Given the description of an element on the screen output the (x, y) to click on. 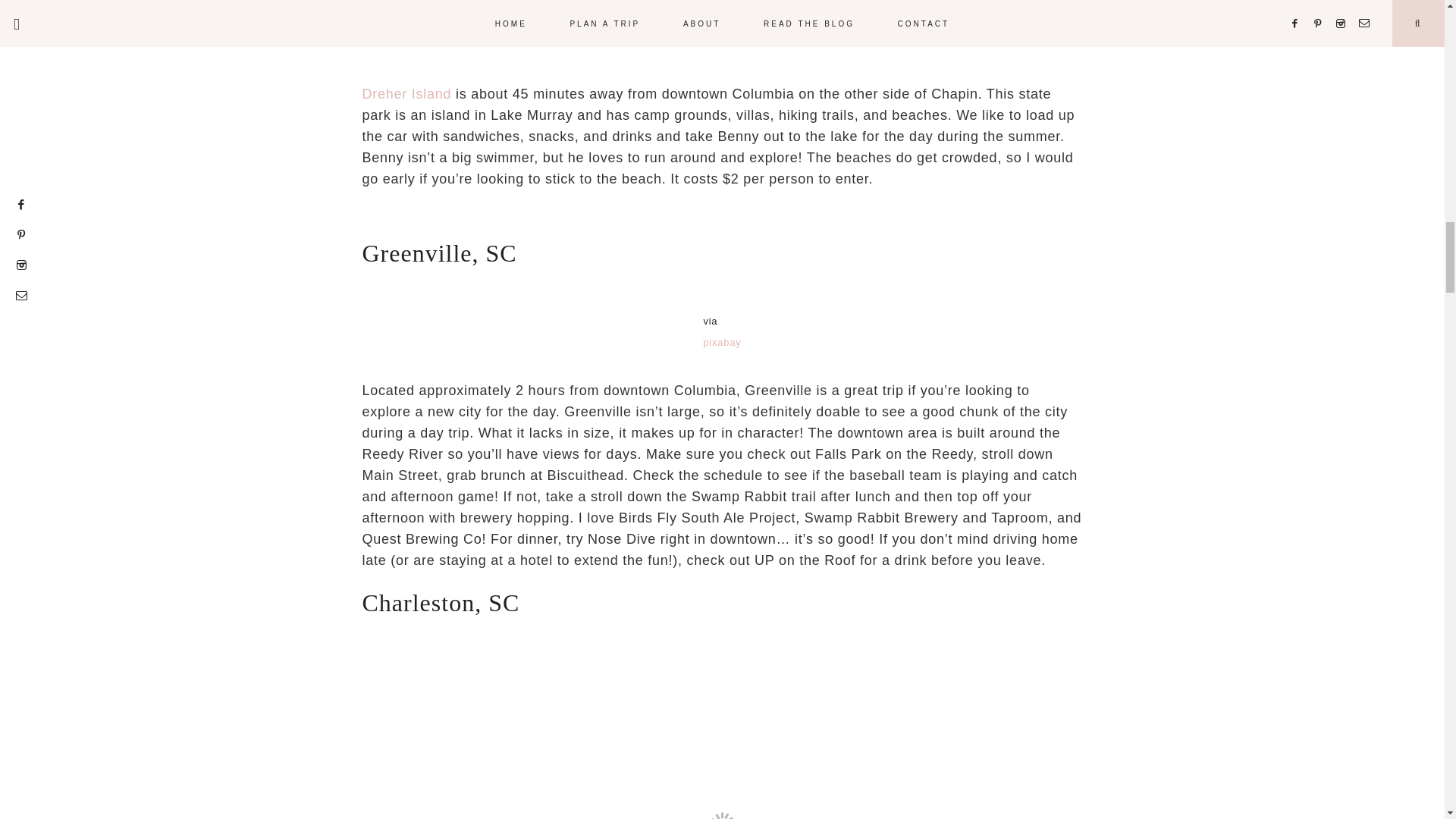
Dreher Island (409, 93)
pixabay (722, 342)
